Given the description of an element on the screen output the (x, y) to click on. 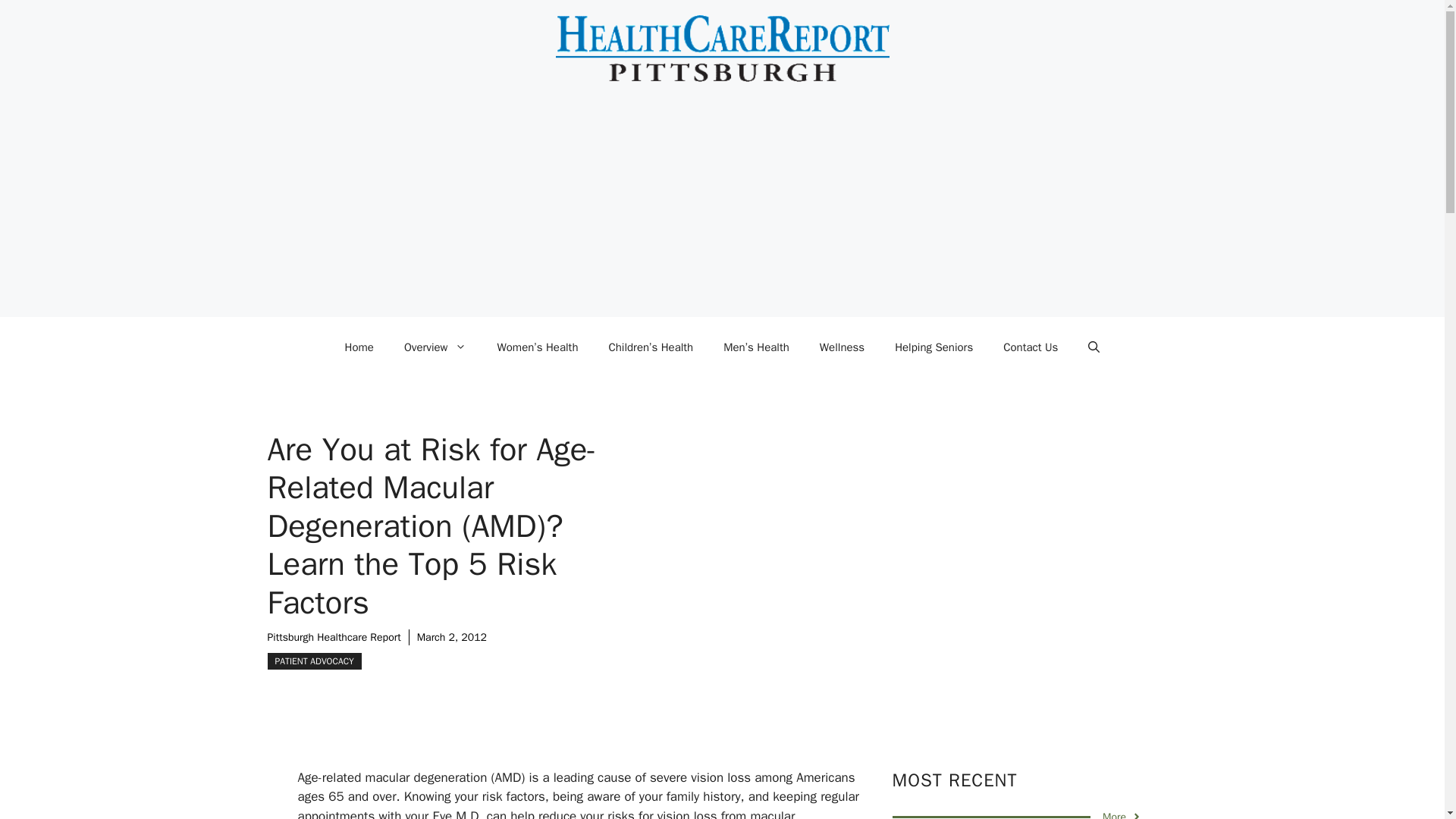
Pittsburgh Healthcare Report (333, 636)
Wellness (842, 347)
More (1121, 814)
Contact Us (1030, 347)
Overview (434, 347)
PATIENT ADVOCACY (313, 660)
Home (359, 347)
Helping Seniors (933, 347)
